Given the description of an element on the screen output the (x, y) to click on. 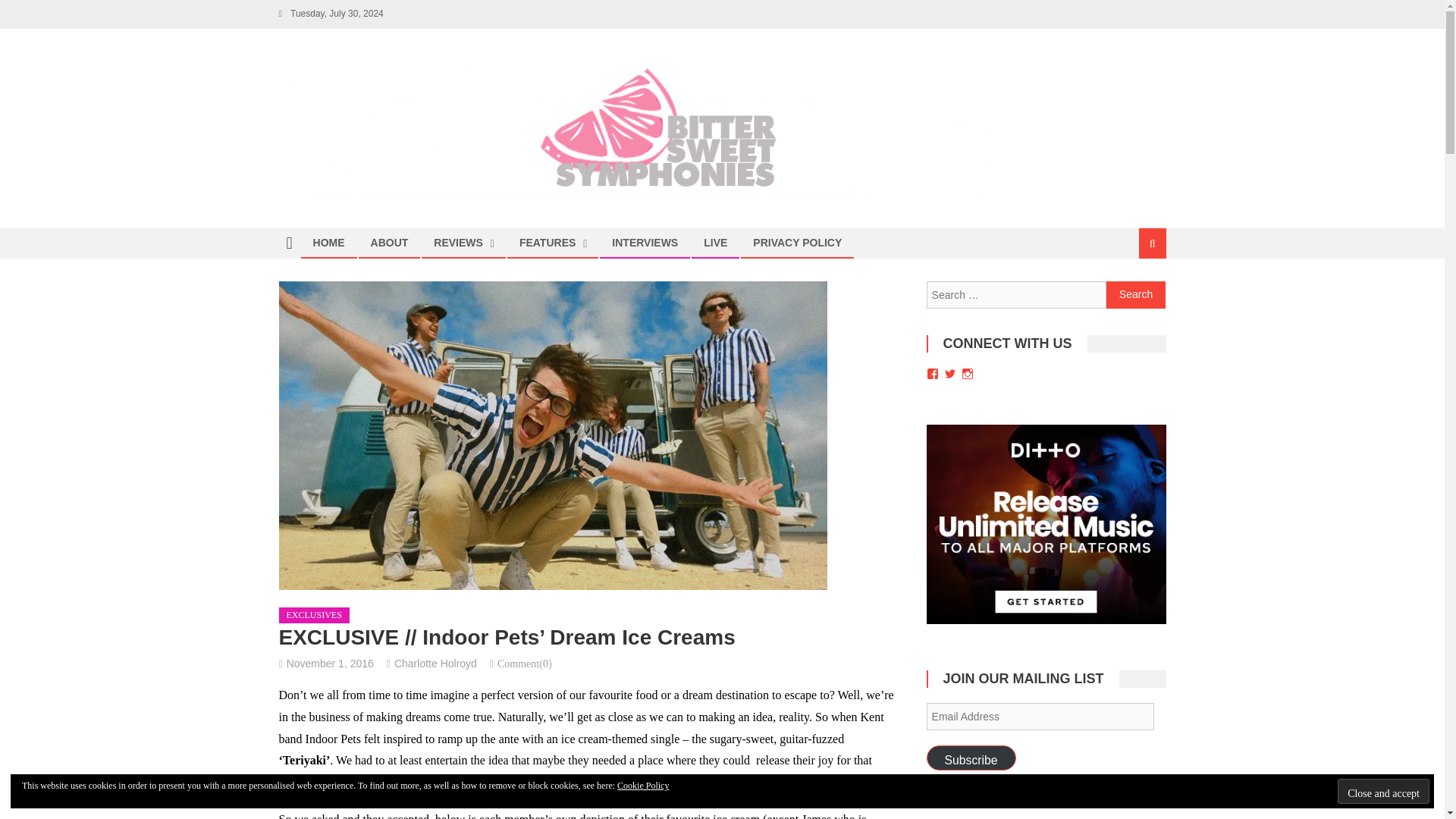
HOME (328, 242)
LIVE (715, 242)
Search (1136, 294)
Charlotte Holroyd (435, 663)
INTERVIEWS (643, 242)
Search (1133, 293)
REVIEWS (458, 242)
Close and accept (1383, 790)
PRIVACY POLICY (797, 242)
Search (1136, 294)
ABOUT (389, 242)
EXCLUSIVES (314, 615)
FEATURES (547, 242)
November 1, 2016 (330, 663)
